Given the description of an element on the screen output the (x, y) to click on. 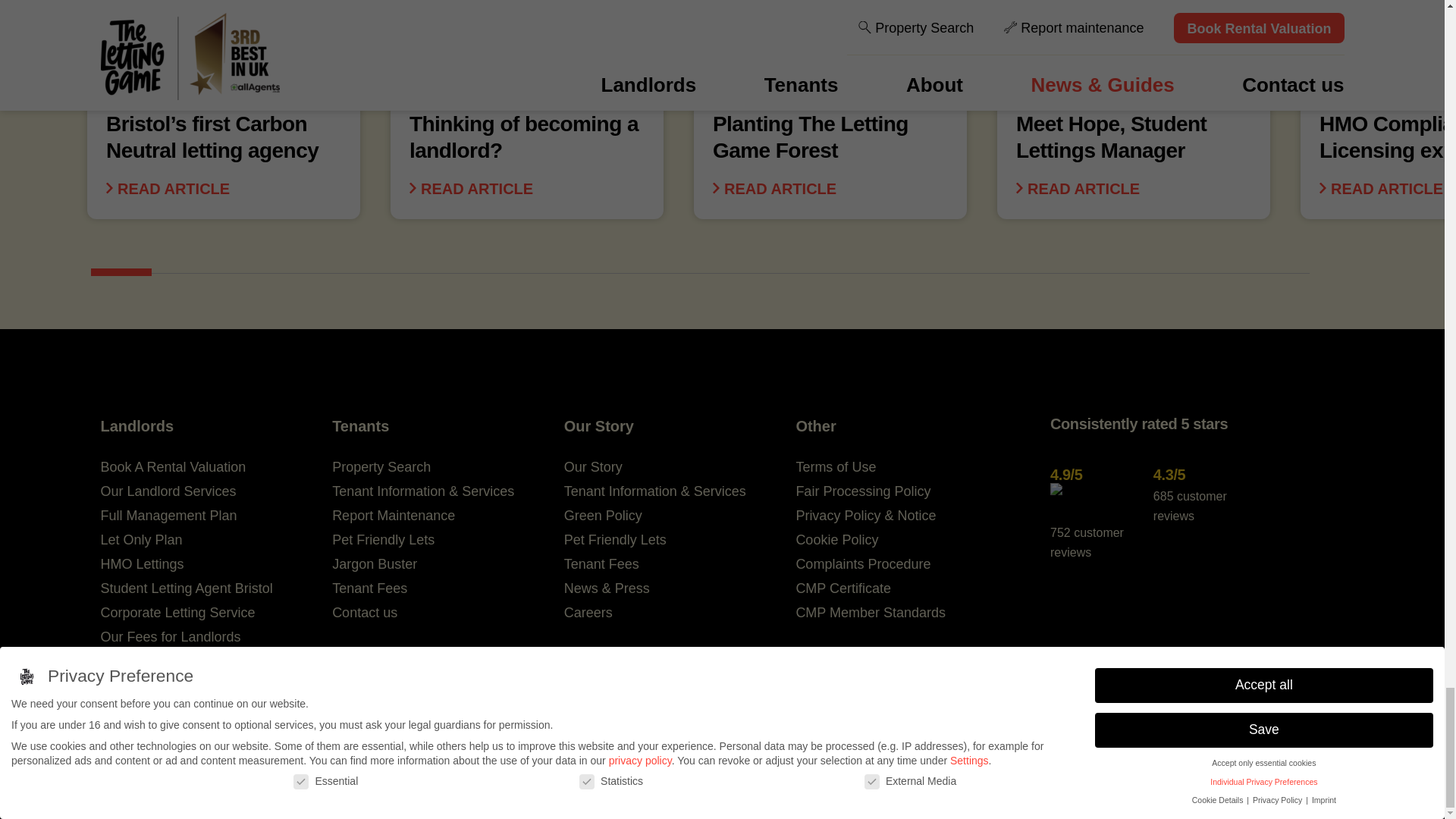
Read article (470, 189)
Read article (168, 189)
Read article (1078, 189)
Read article (774, 189)
Bristol's first Carbon Neutral letting agency (223, 99)
Meet Hope, Student Lettings Manager (1133, 99)
Thinking of becoming a landlord? (527, 99)
Planting The Letting Game Forest (830, 99)
